Given the description of an element on the screen output the (x, y) to click on. 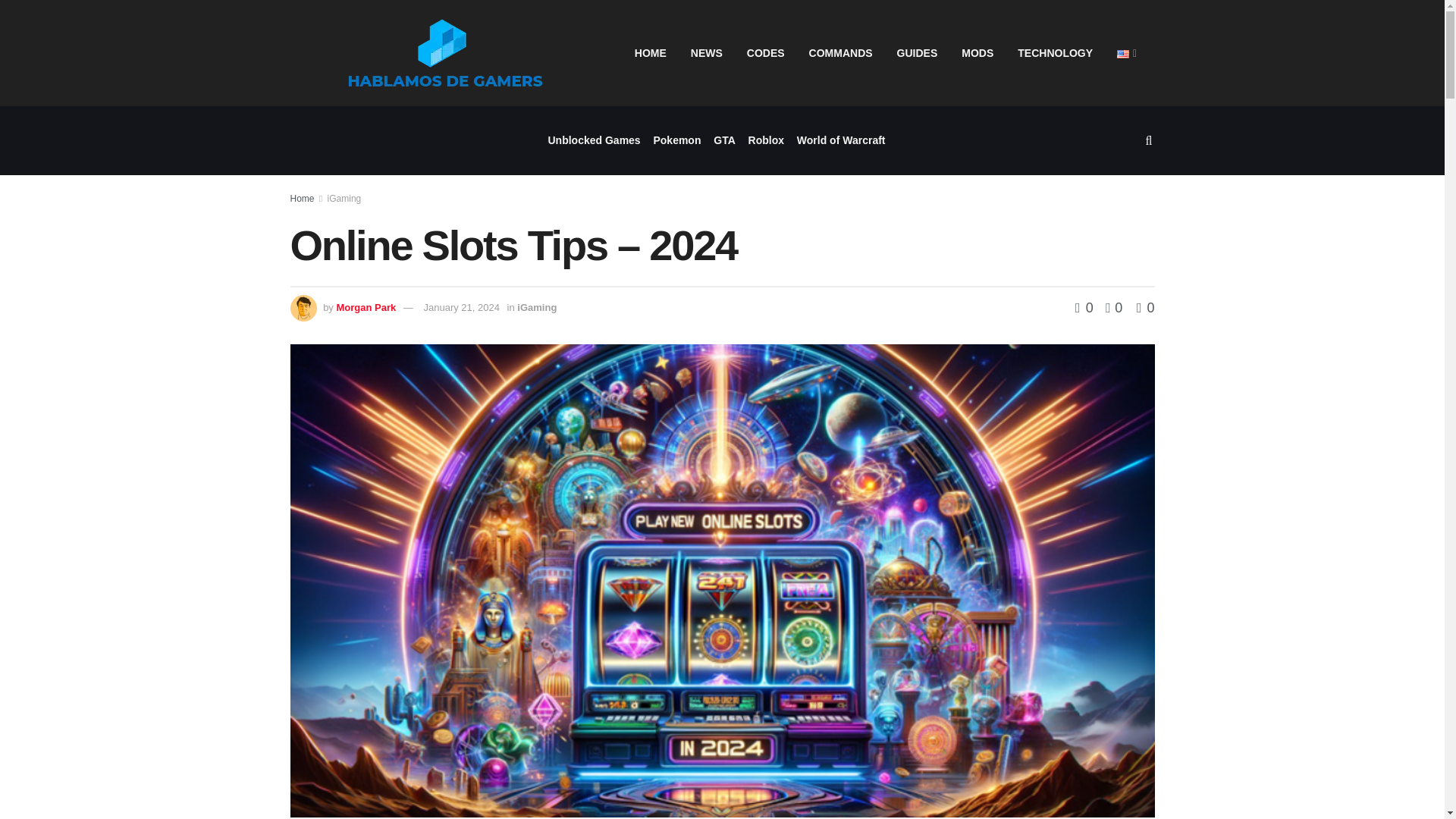
HOME (650, 53)
TECHNOLOGY (1055, 53)
MODS (977, 53)
COMMANDS (840, 53)
Unblocked Games (593, 140)
iGaming (536, 307)
World of Warcraft (840, 140)
NEWS (706, 53)
iGaming (344, 198)
CODES (765, 53)
